Given the description of an element on the screen output the (x, y) to click on. 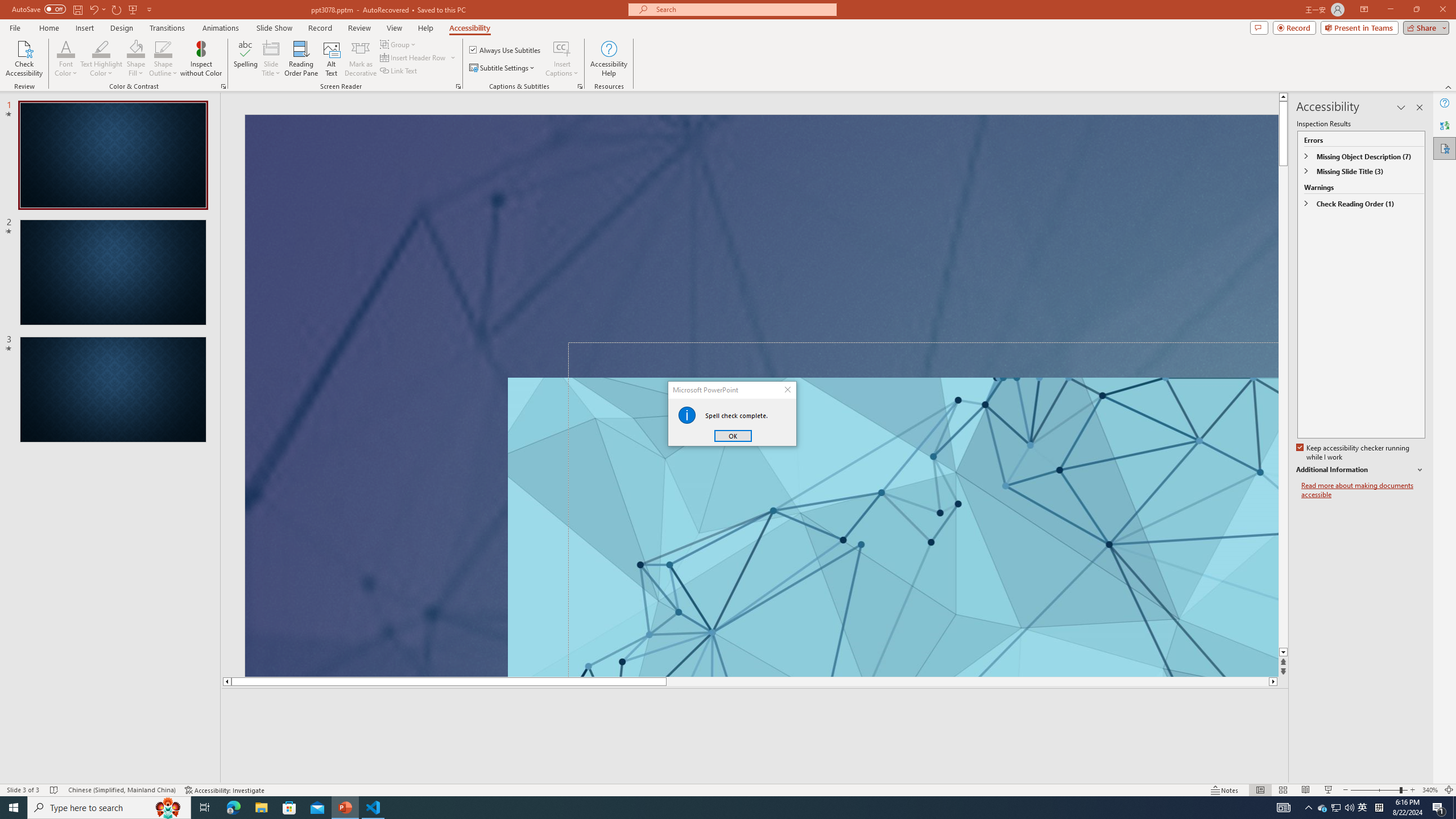
Read more about making documents accessible (1363, 489)
Show desktop (1454, 807)
Page down (1283, 406)
AutomationID: 4105 (1283, 807)
Shape Outline (163, 48)
Mark as Decorative (360, 58)
Group (398, 44)
Microsoft Store (289, 807)
Check Accessibility (23, 58)
